Given the description of an element on the screen output the (x, y) to click on. 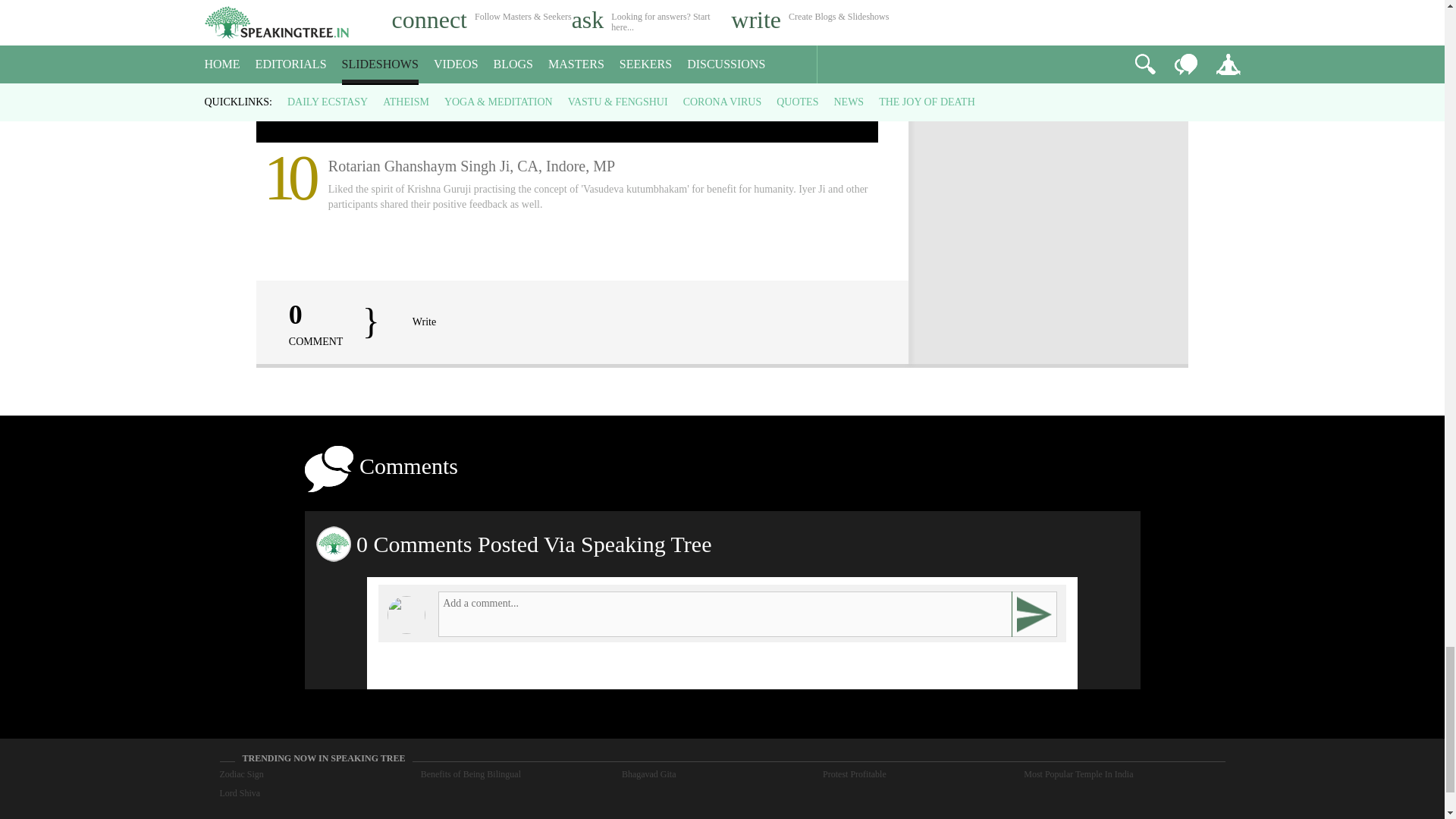
Rotarian Ghanshaym Singh Ji, CA, Indore, MP (567, 71)
